Given the description of an element on the screen output the (x, y) to click on. 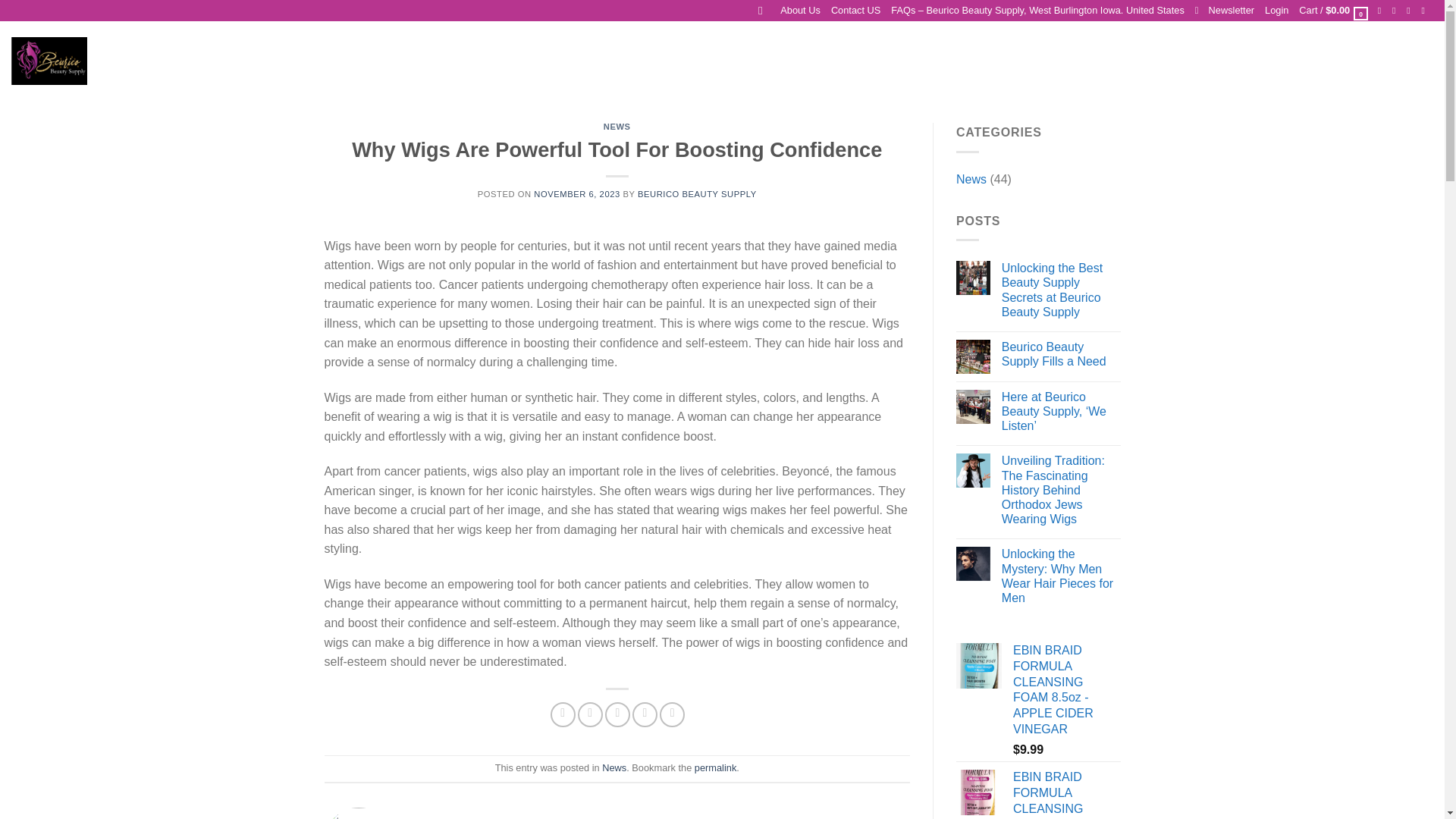
Login (1276, 10)
Email to a Friend (617, 714)
About Us (800, 10)
Hair Products (449, 60)
Sign up for Newsletter (1224, 10)
Hair Extensions (374, 60)
Beurico Beauty Supply - Complete range of beauty products (49, 60)
Cart (1334, 10)
Contact US (855, 10)
Braiding Hair (247, 60)
